Given the description of an element on the screen output the (x, y) to click on. 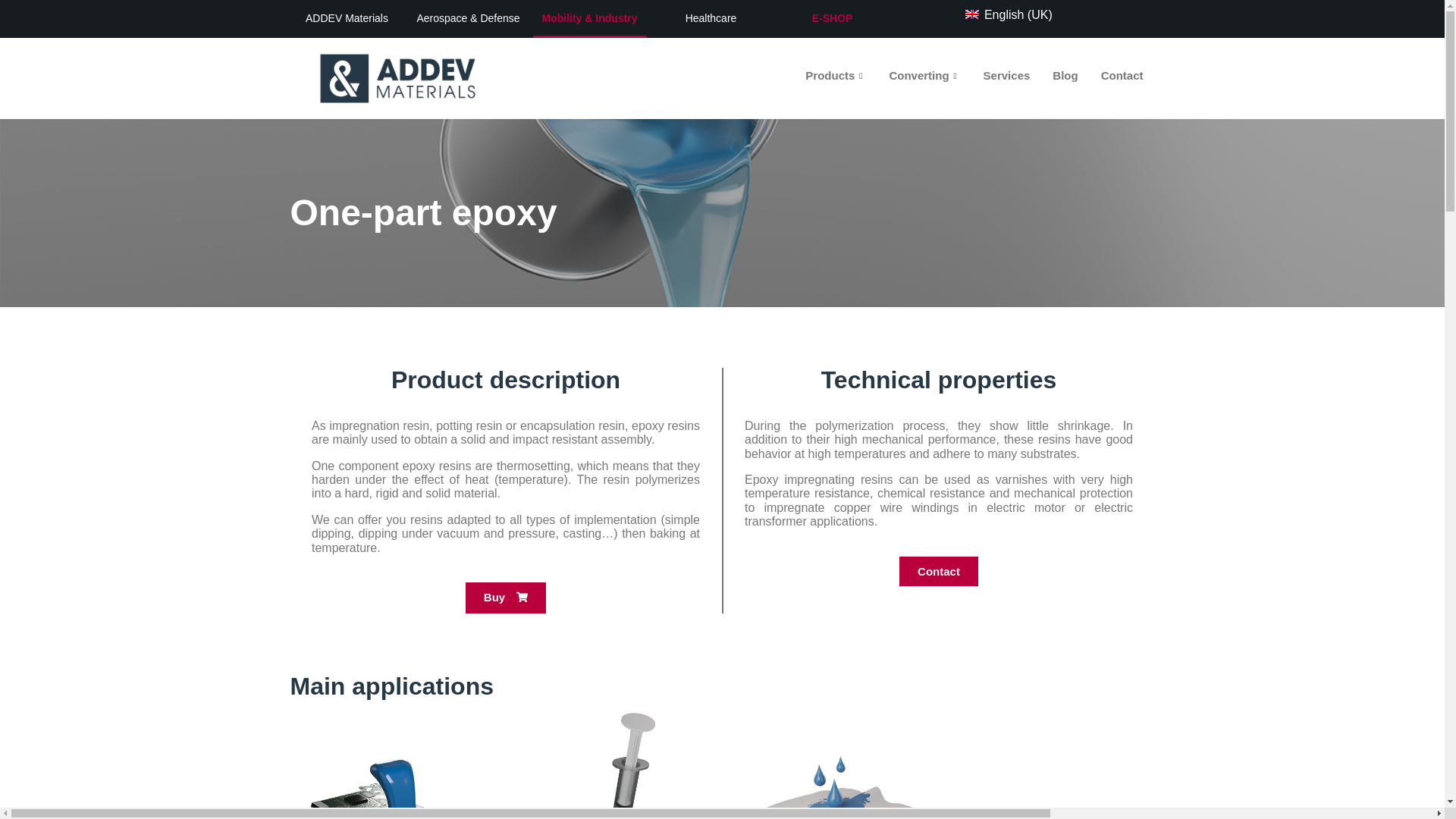
ADDEV Materials (346, 18)
Healthcare (710, 18)
Products (835, 75)
E-SHOP (832, 18)
